Given the description of an element on the screen output the (x, y) to click on. 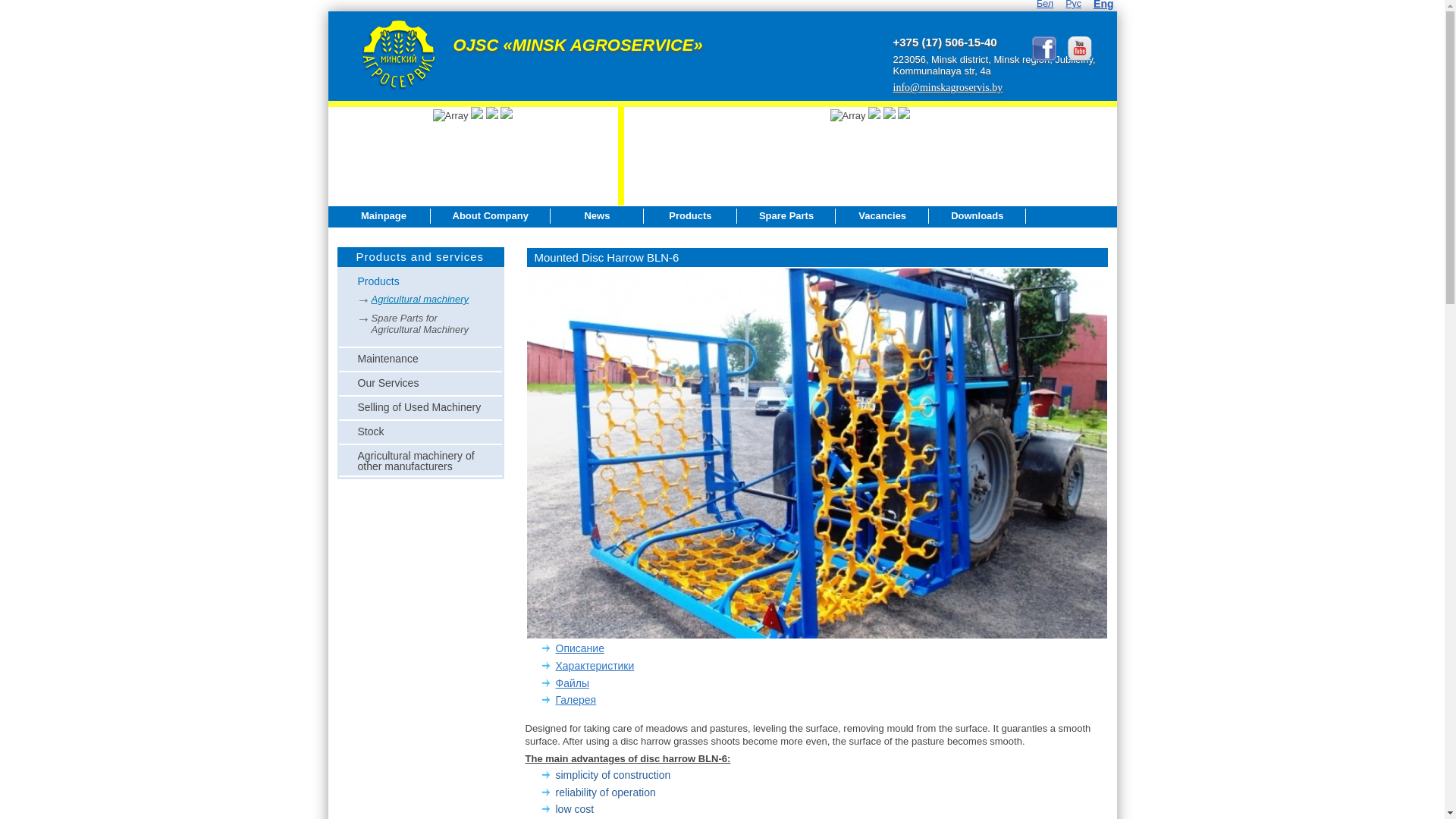
Stock Element type: text (419, 431)
Spare Parts Element type: text (786, 215)
Agricultural machinery Element type: text (420, 301)
Products Element type: text (419, 281)
About Company Element type: text (490, 215)
Vacancies Element type: text (881, 215)
Downloads Element type: text (976, 215)
Mainpage Element type: text (382, 215)
info@minskagroservis.by Element type: text (948, 87)
Our Services Element type: text (419, 383)
Contacts Element type: text (382, 235)
Selling of Used Machinery Element type: text (419, 407)
Spare Parts for Agricultural Machinery Element type: text (420, 325)
Maintenance Element type: text (419, 359)
News Element type: text (596, 215)
Agricultural machinery of other manufacturers Element type: text (419, 460)
Products Element type: text (690, 215)
Mounted Disc Harrow BLN-6 Element type: text (816, 256)
